Given the description of an element on the screen output the (x, y) to click on. 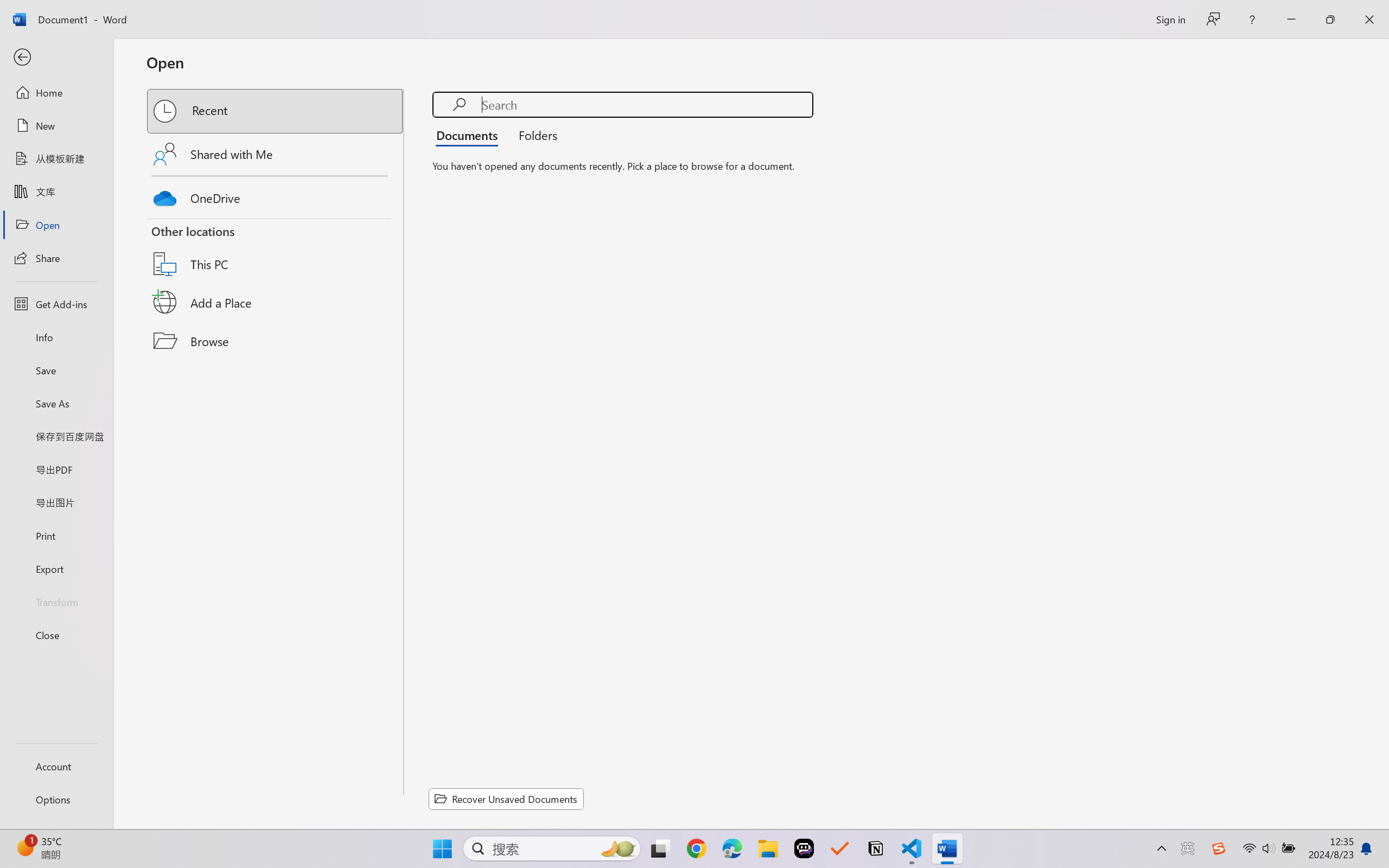
Shared with Me (275, 153)
Add a Place (275, 302)
This PC (275, 249)
Recent (275, 110)
Transform (56, 601)
Browse (275, 340)
Info (56, 337)
